Given the description of an element on the screen output the (x, y) to click on. 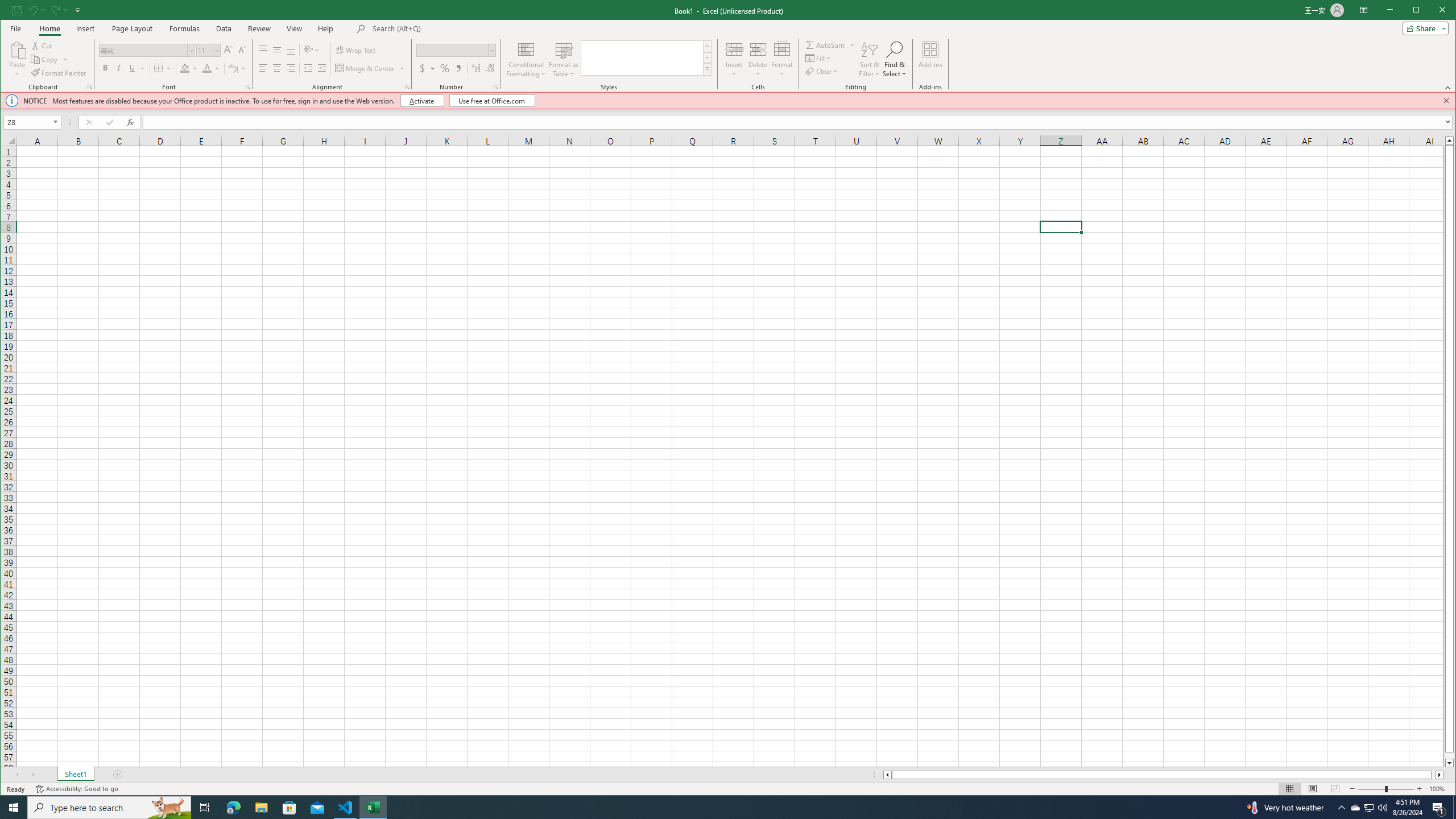
Orientation (311, 49)
Cell Styles (707, 69)
Font (143, 50)
Format Cell Font (247, 86)
Office Clipboard... (89, 86)
